Given the description of an element on the screen output the (x, y) to click on. 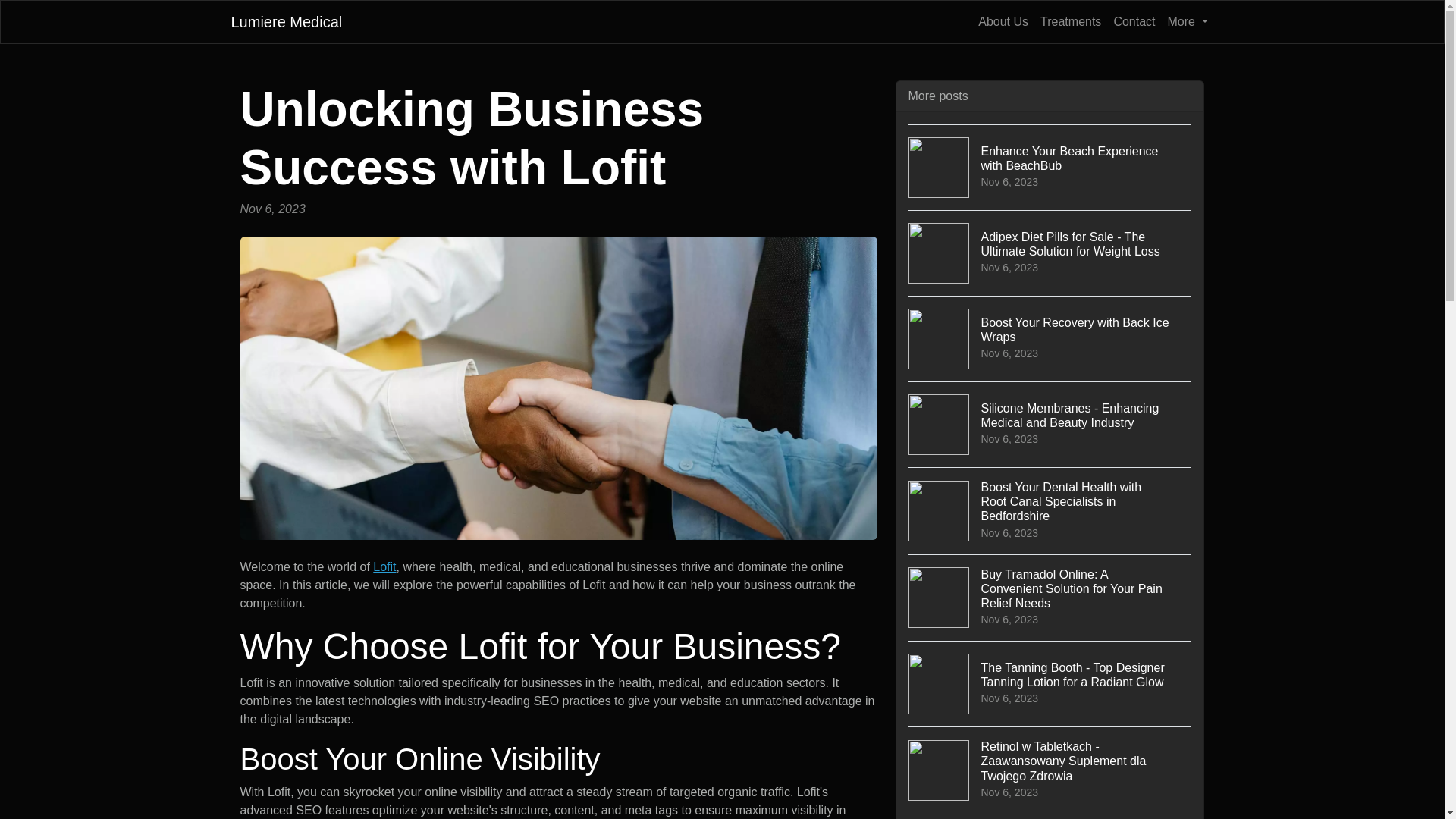
Treatments (1069, 21)
Lofit (384, 566)
Contact (1133, 21)
Lumiere Medical (286, 21)
